Given the description of an element on the screen output the (x, y) to click on. 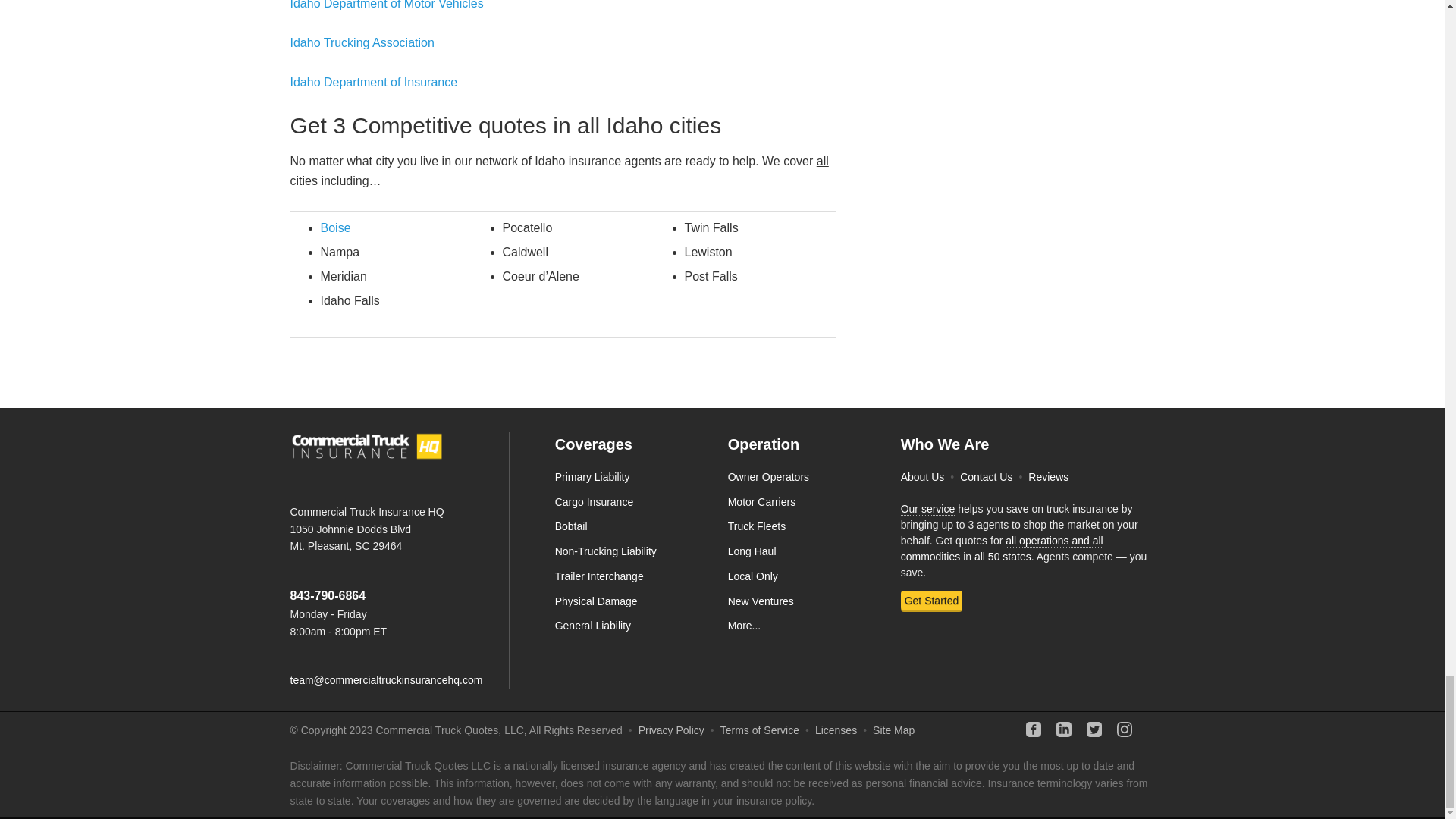
Idaho Trucking Association (361, 42)
Idaho Department of Motor Vehicles (386, 4)
